Given the description of an element on the screen output the (x, y) to click on. 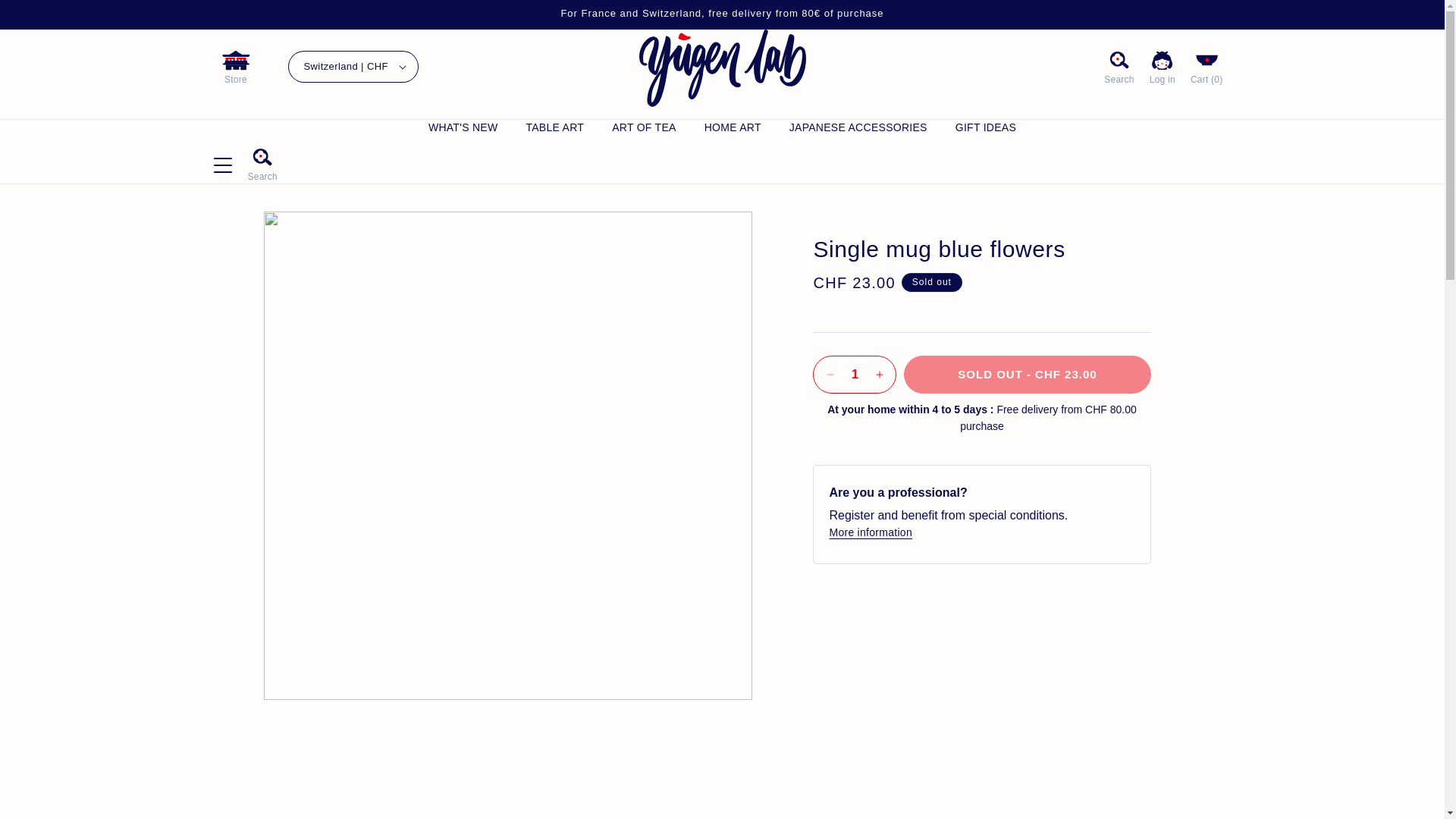
SKIP TO CONTENT (22, 11)
1 (854, 373)
